Given the description of an element on the screen output the (x, y) to click on. 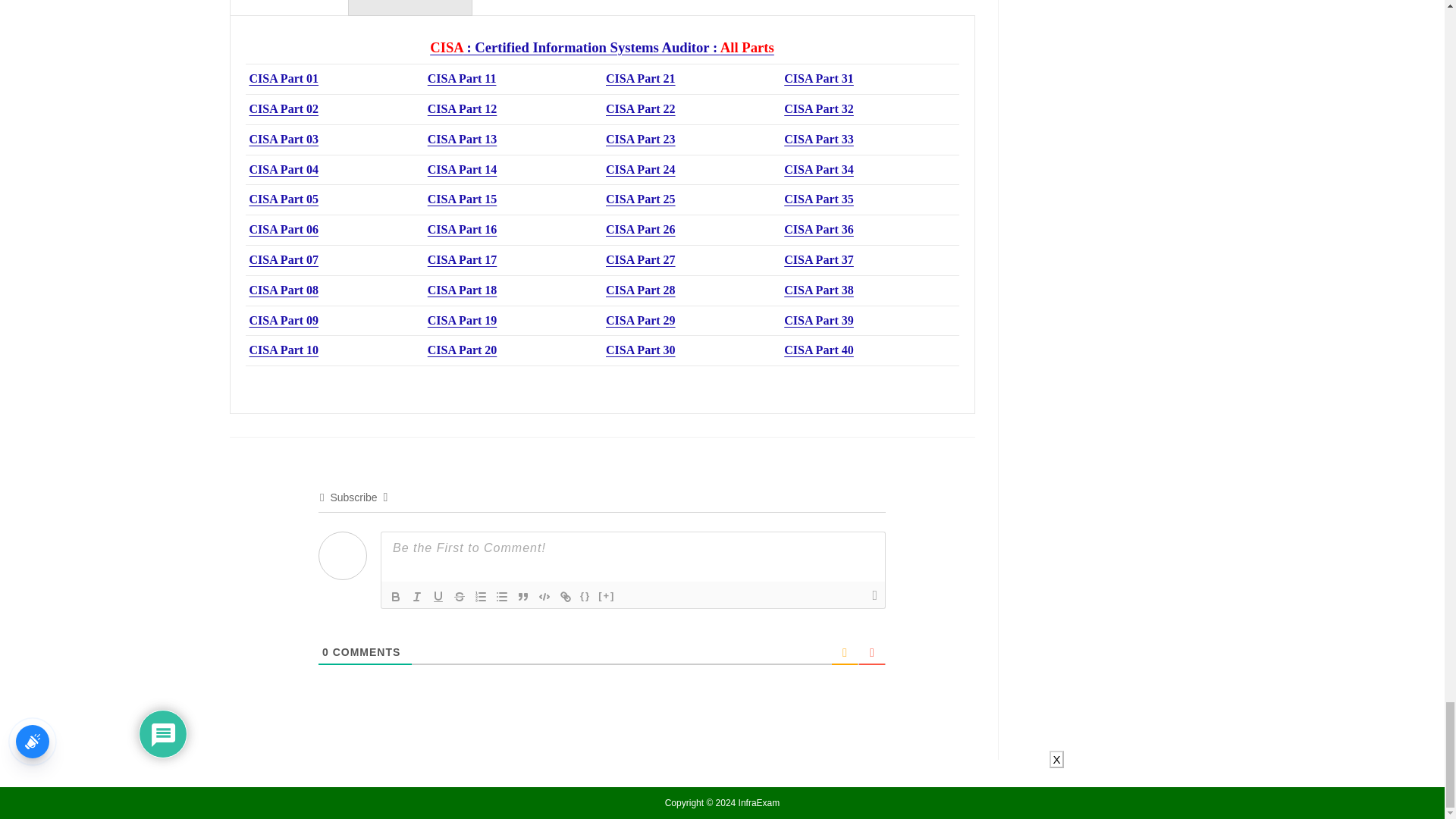
Source Code (585, 597)
Code Block (544, 597)
Unordered List (502, 597)
Link (565, 597)
Bold (395, 597)
Spoiler (606, 597)
Blockquote (523, 597)
Ordered List (481, 597)
Strike (459, 597)
Italic (417, 597)
Underline (438, 597)
